Given the description of an element on the screen output the (x, y) to click on. 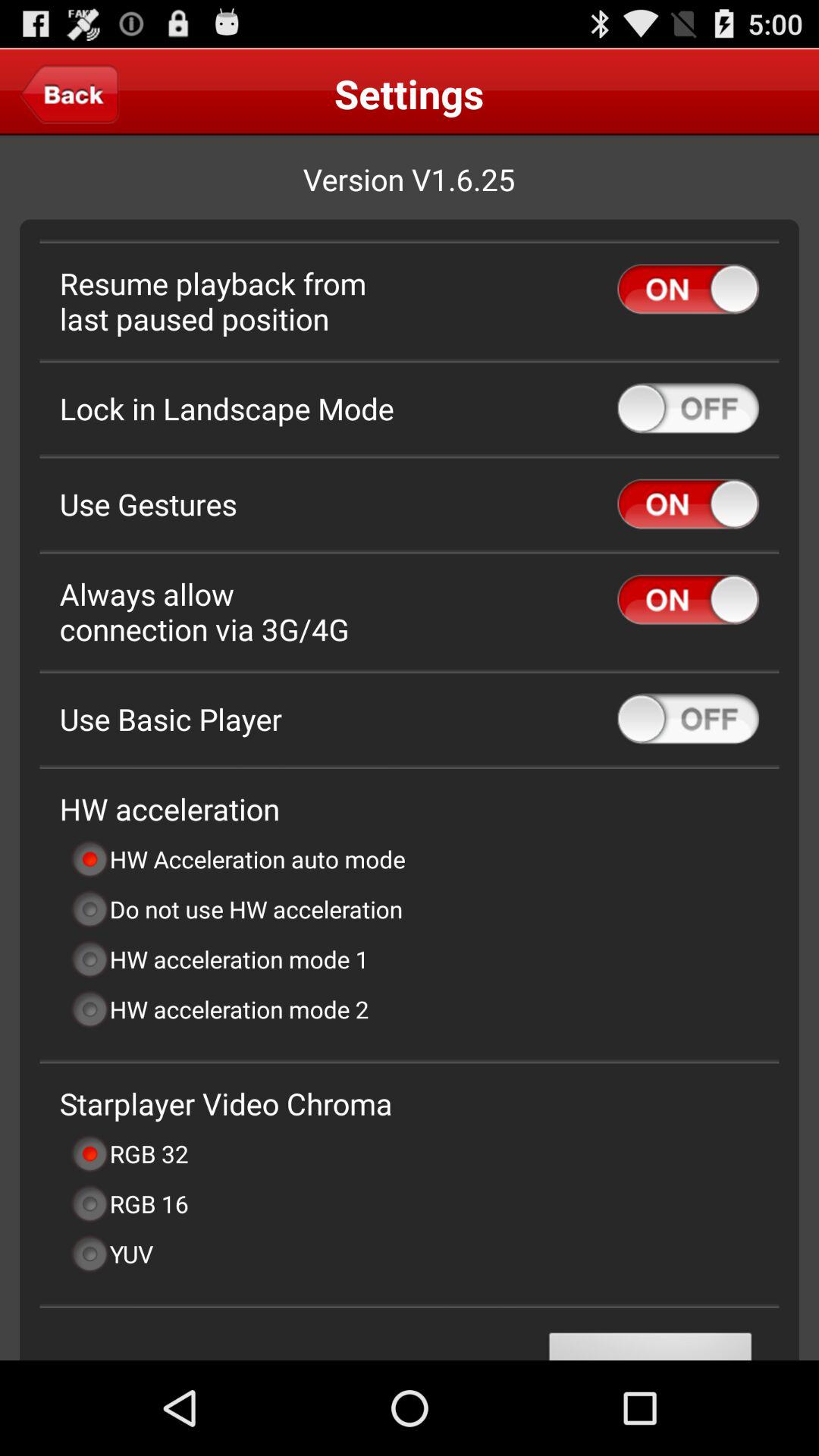
turn on and turn off button (688, 504)
